Given the description of an element on the screen output the (x, y) to click on. 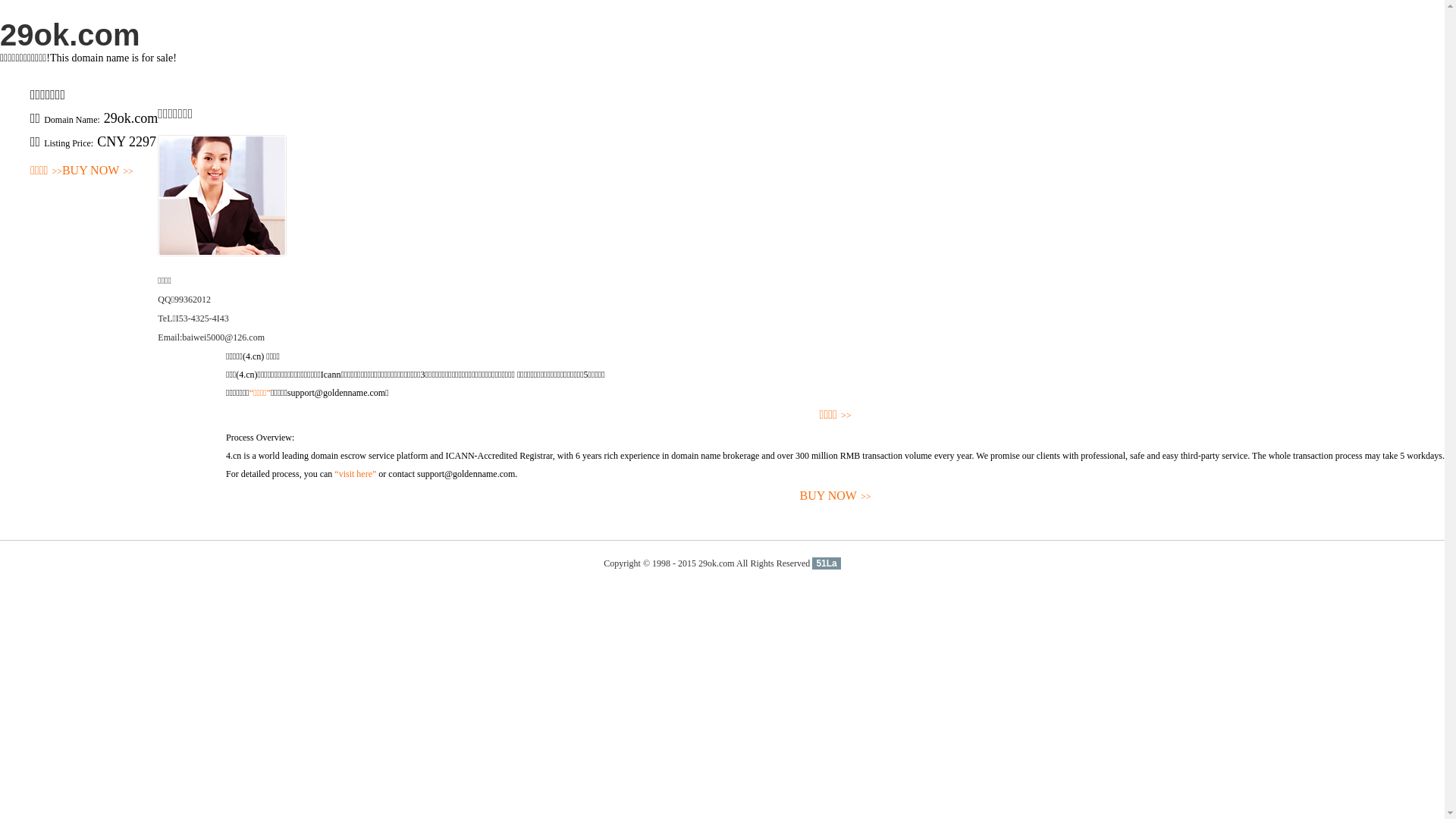
BUY NOW>> Element type: text (97, 170)
BUY NOW>> Element type: text (834, 496)
51La Element type: text (826, 563)
